Given the description of an element on the screen output the (x, y) to click on. 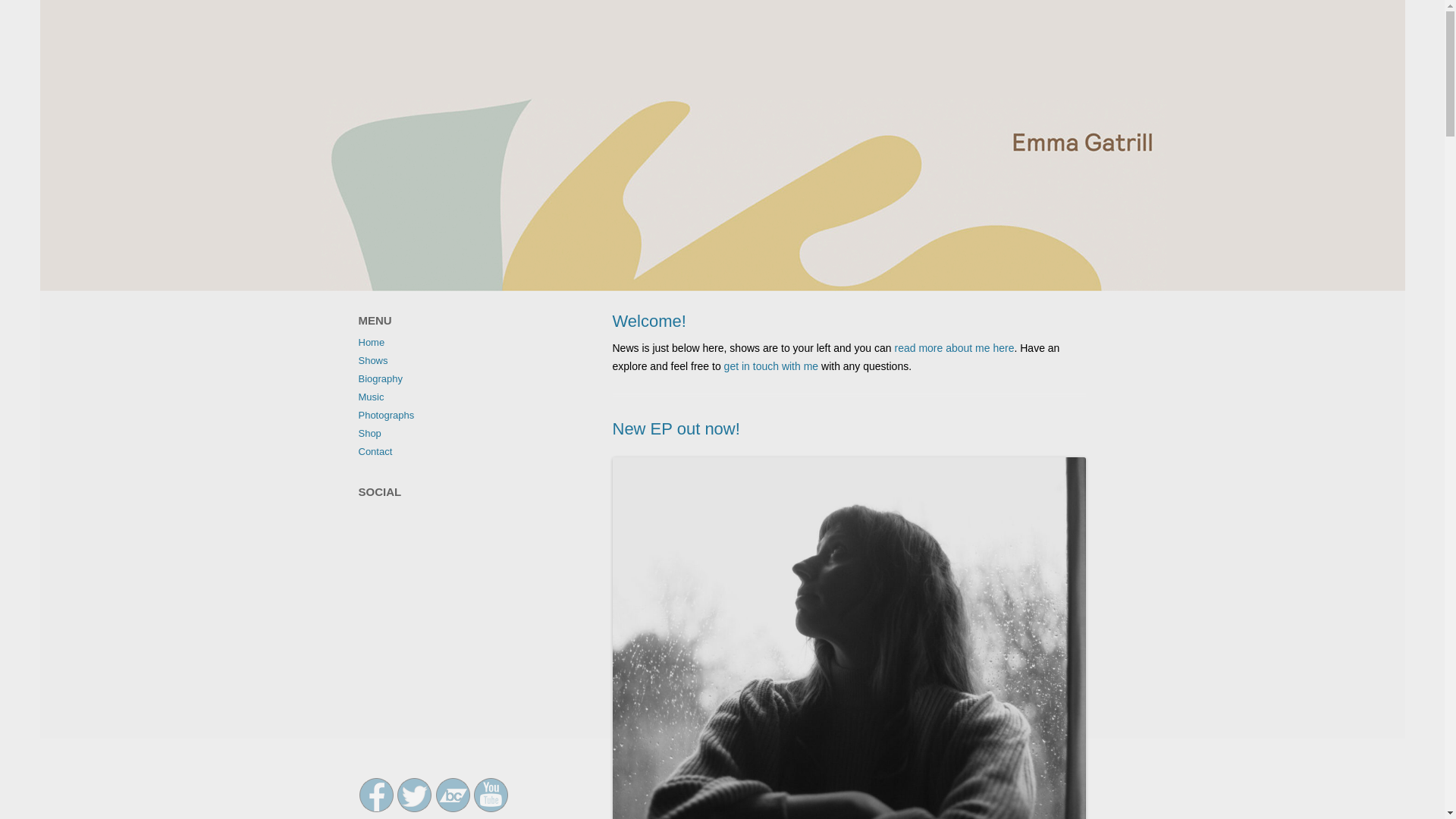
get in touch with me (770, 366)
Permalink to New EP out now! (675, 428)
New EP out now! (675, 428)
read more about me here (953, 347)
